Given the description of an element on the screen output the (x, y) to click on. 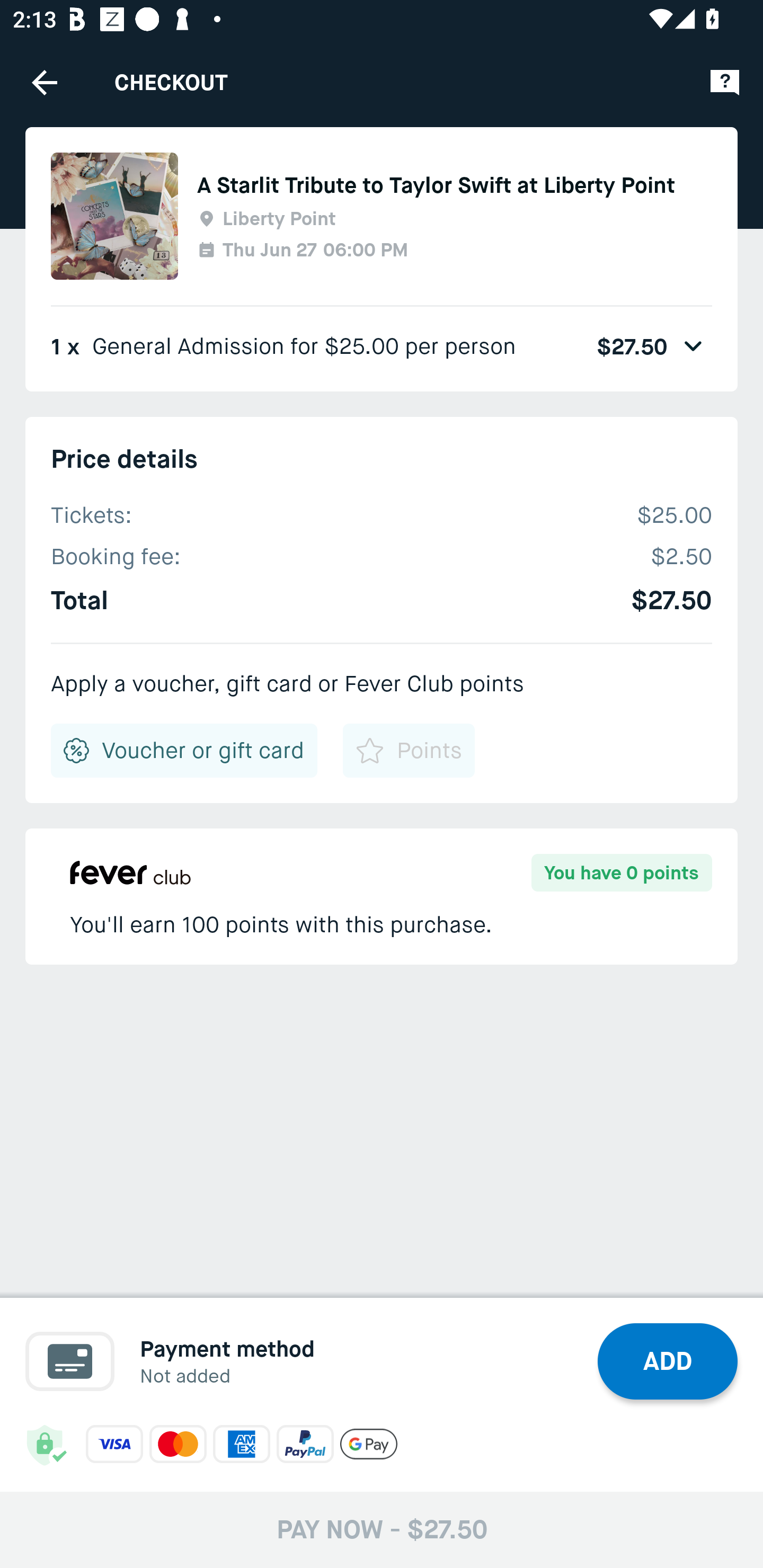
Navigate up (44, 82)
Help (724, 81)
Voucher or gift card (184, 749)
Points (408, 749)
ADD (667, 1361)
PAY NOW - $27.50 (381, 1529)
